Given the description of an element on the screen output the (x, y) to click on. 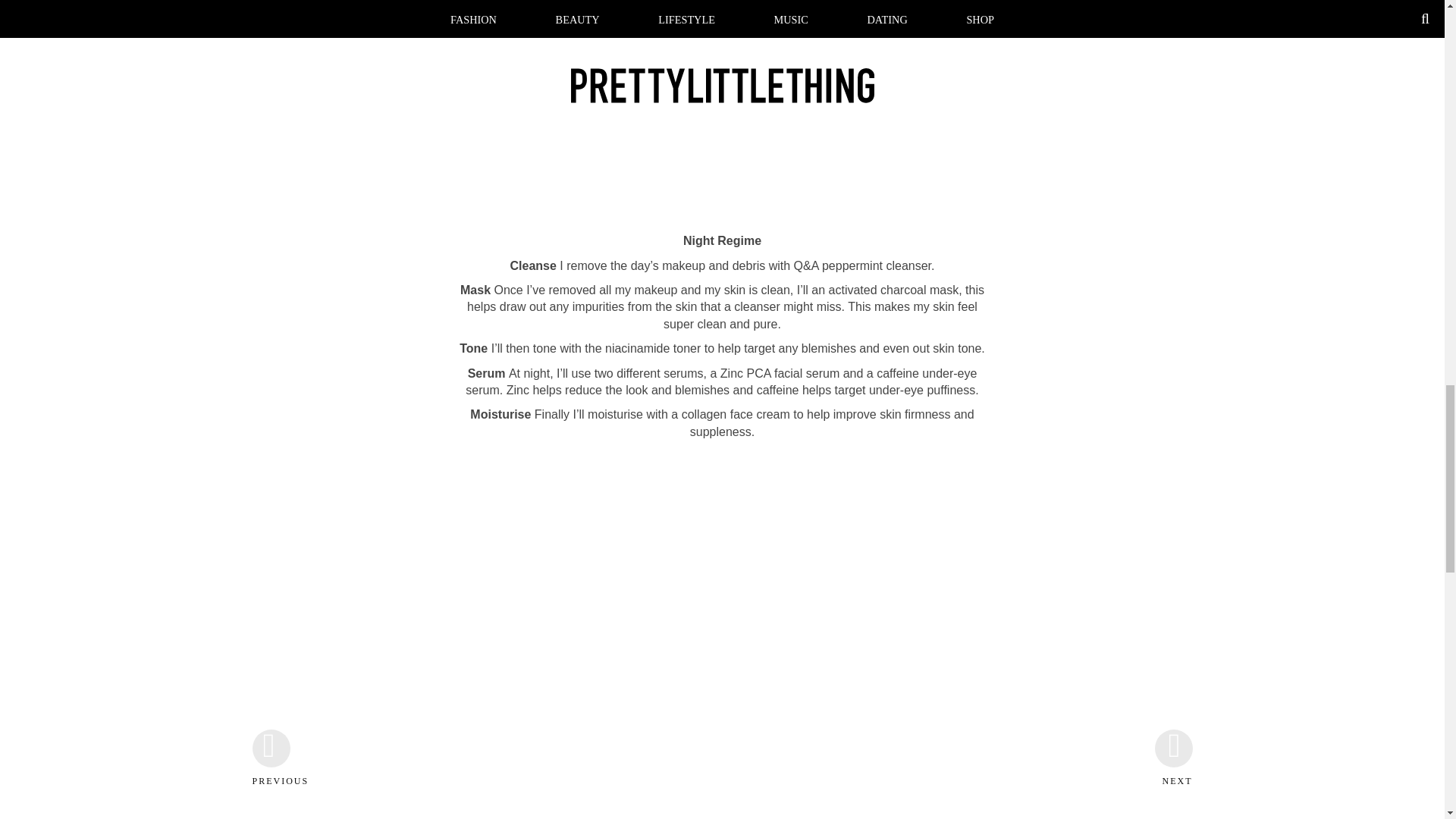
NEXT (1173, 793)
PREVIOUS (270, 793)
